Given the description of an element on the screen output the (x, y) to click on. 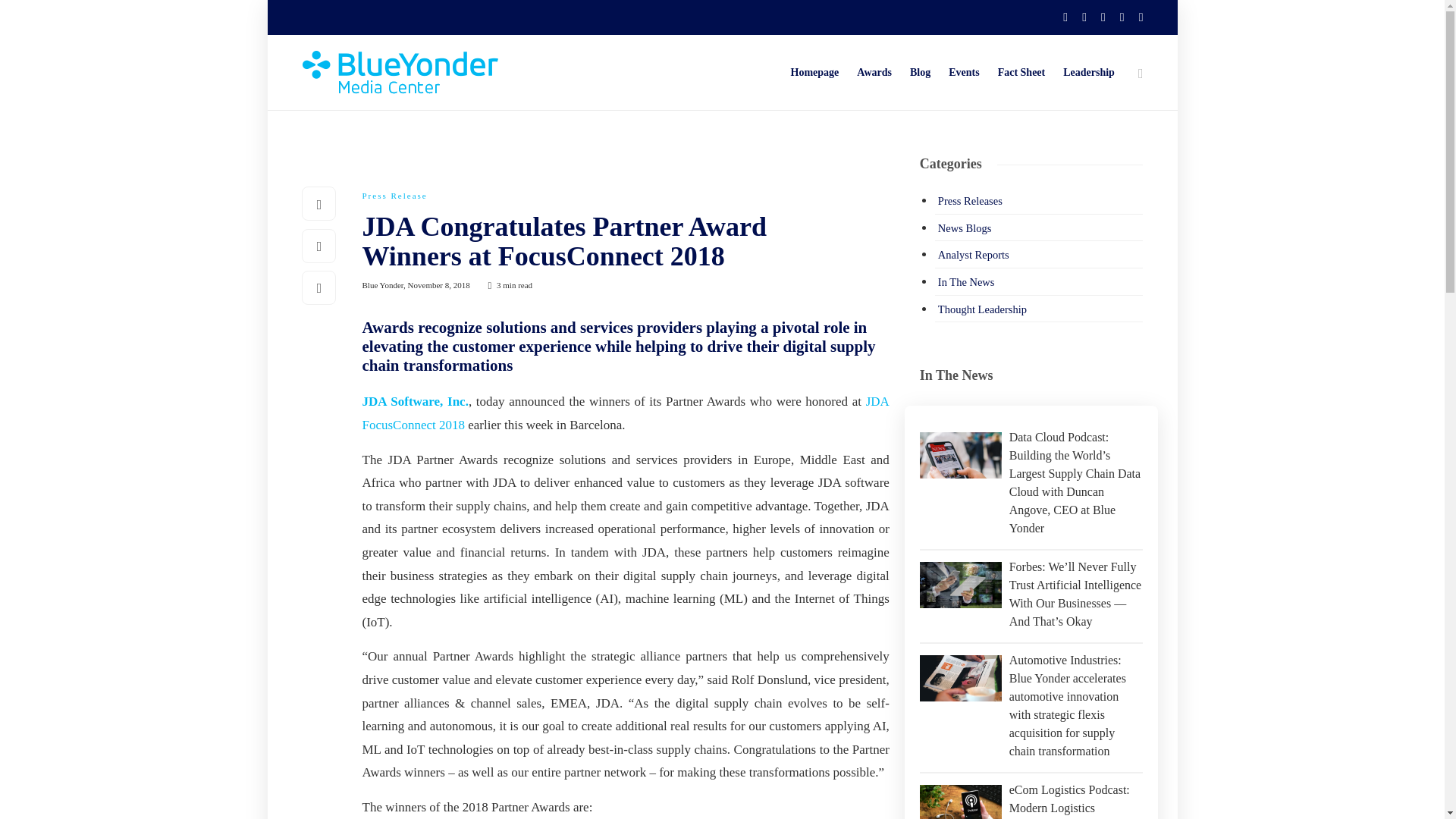
Blue Yonder (383, 284)
Press Release (395, 194)
JDA Software, Inc. (415, 400)
JDA FocusConnect 2018 (625, 412)
Leadership (1088, 72)
JDA Congratulates Partner Award Winners at FocusConnect 2018 (614, 245)
November 8, 2018 (438, 284)
